Given the description of an element on the screen output the (x, y) to click on. 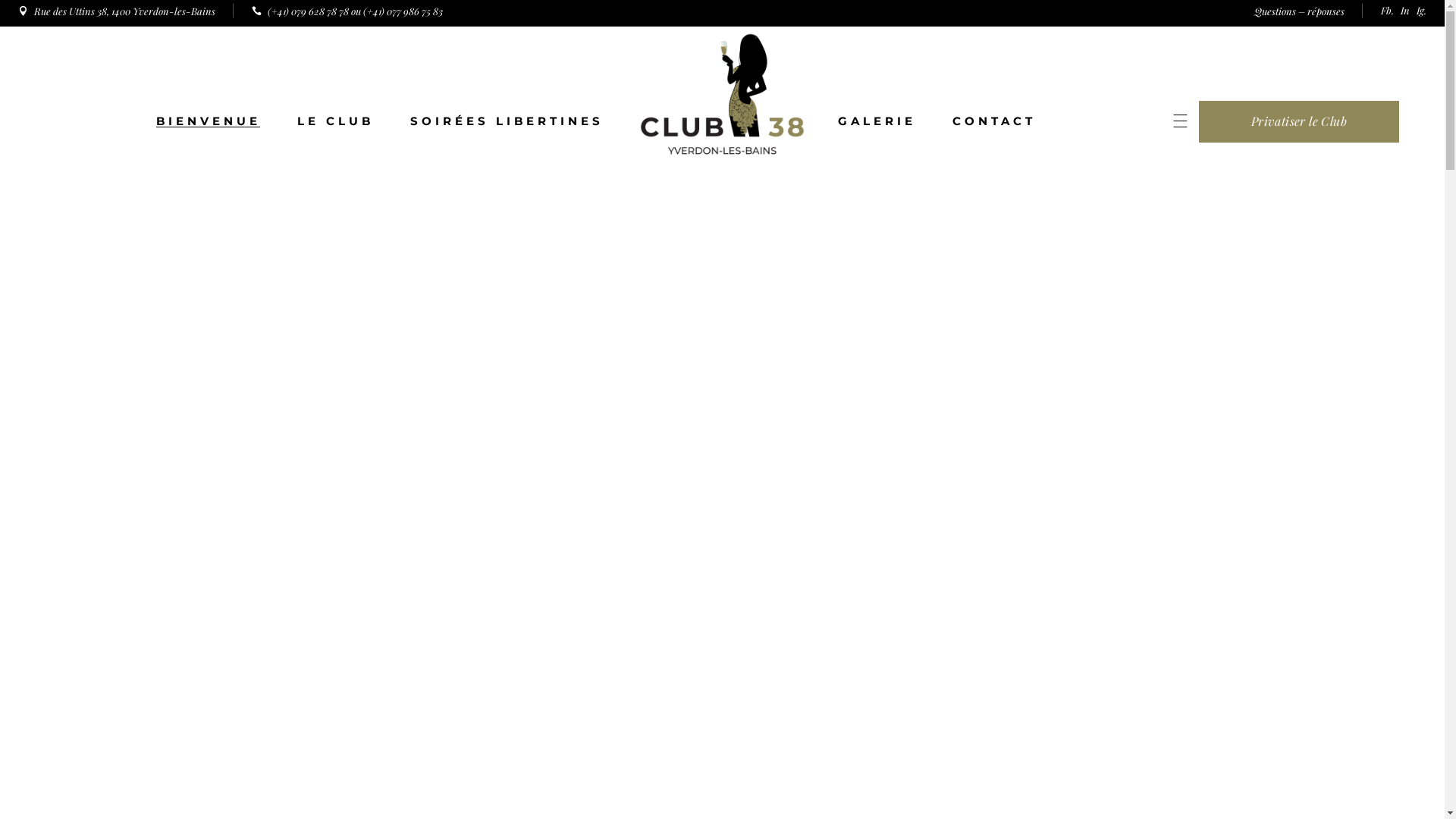
Ig. Element type: text (1421, 9)
(+41) 079 628 78 78 ou (+41) 077 986 75 83 Element type: text (346, 10)
CONTACT Element type: text (993, 121)
LE CLUB Element type: text (335, 121)
Privatiser le Club Element type: text (1298, 120)
BIENVENUE Element type: text (208, 121)
Fb. Element type: text (1386, 9)
In Element type: text (1404, 9)
GALERIE Element type: text (876, 121)
Rue des Uttins 38, 1400 Yverdon-les-Bains Element type: text (116, 10)
